Given the description of an element on the screen output the (x, y) to click on. 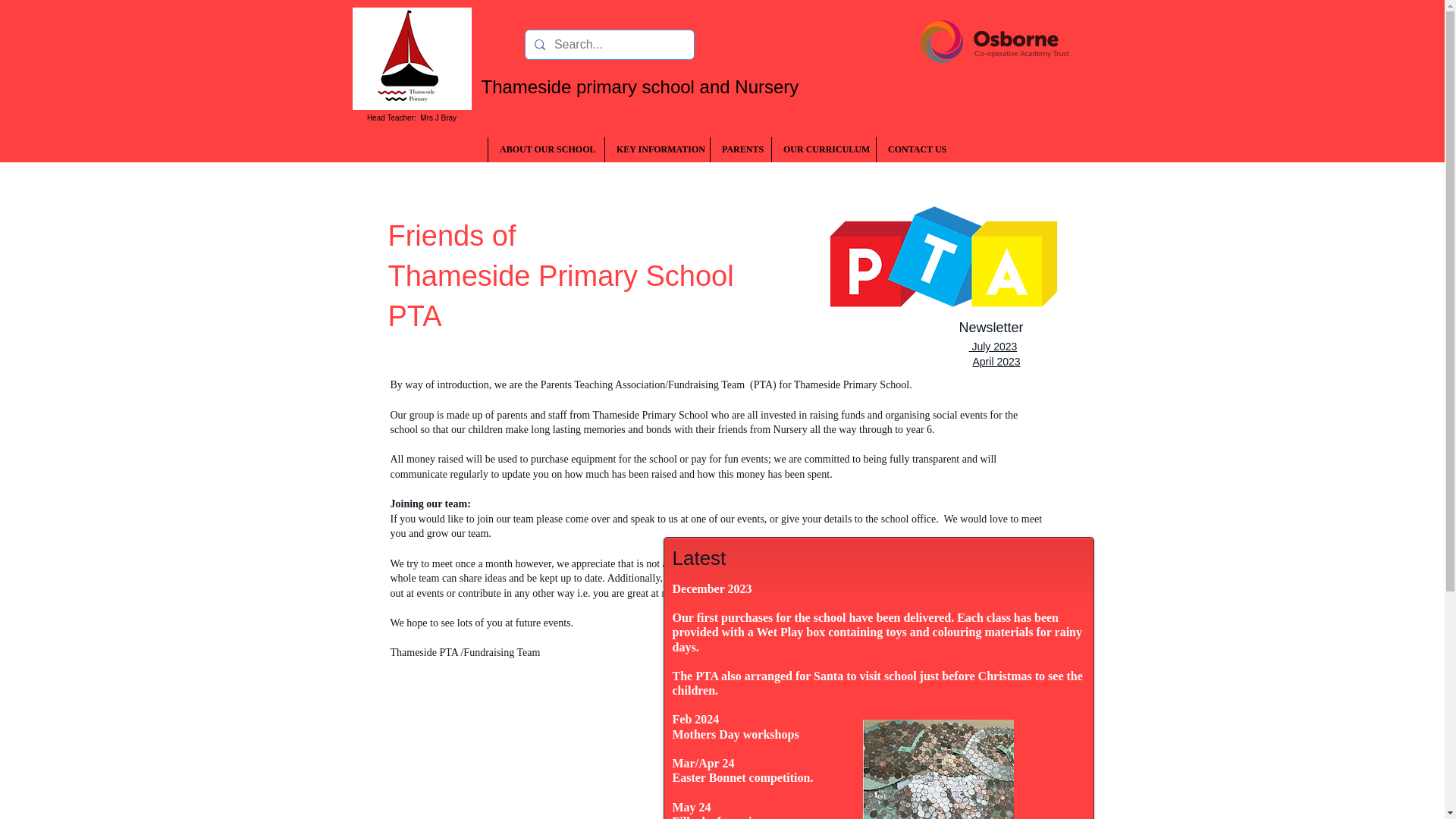
ABOUT OUR SCHOOL (545, 149)
KEY INFORMATION (657, 149)
OUR CURRICULUM (823, 149)
